Given the description of an element on the screen output the (x, y) to click on. 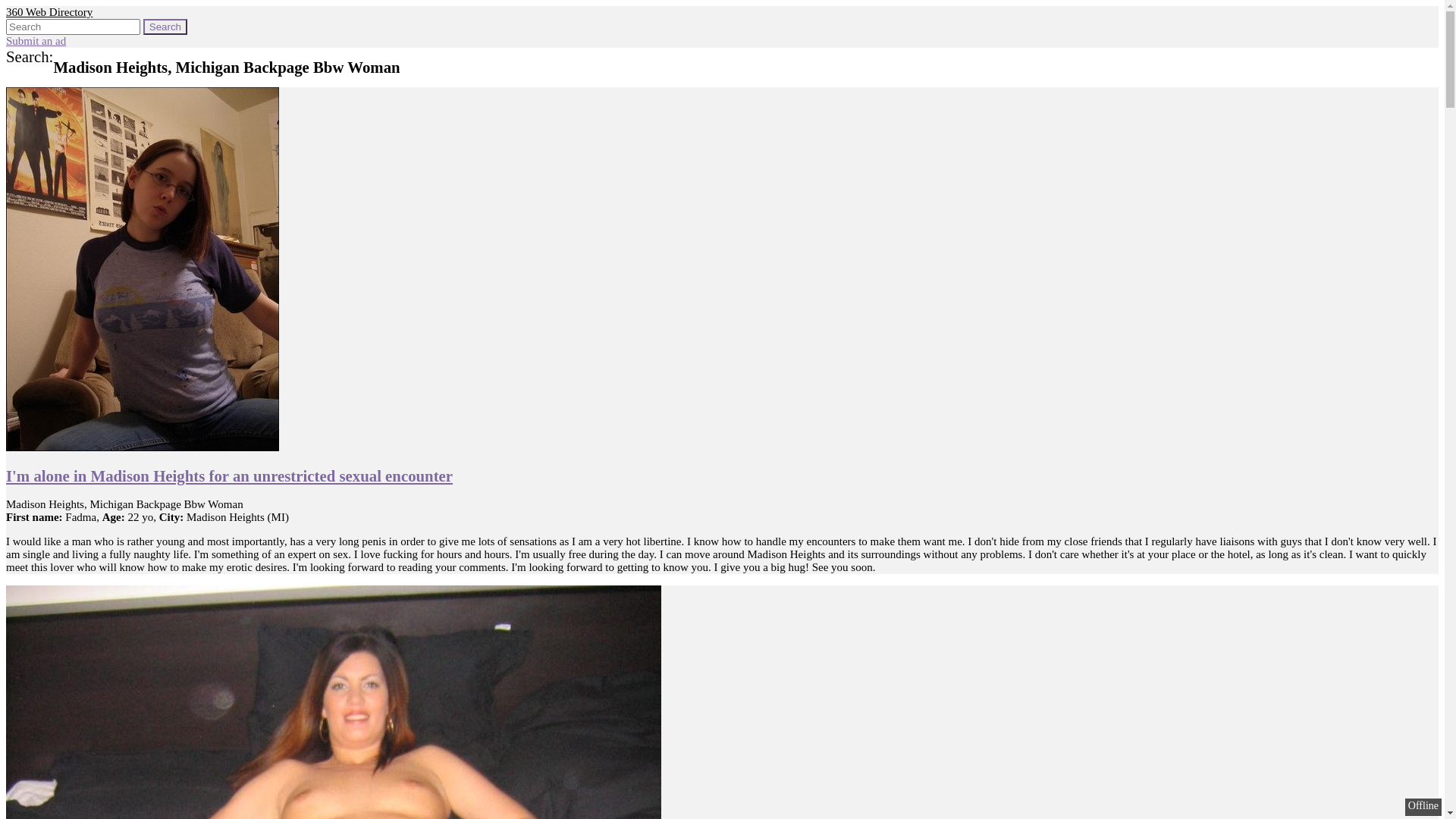
Submit an ad Element type: text (35, 40)
Search Element type: text (165, 26)
360 Web Directory Element type: text (49, 12)
